Given the description of an element on the screen output the (x, y) to click on. 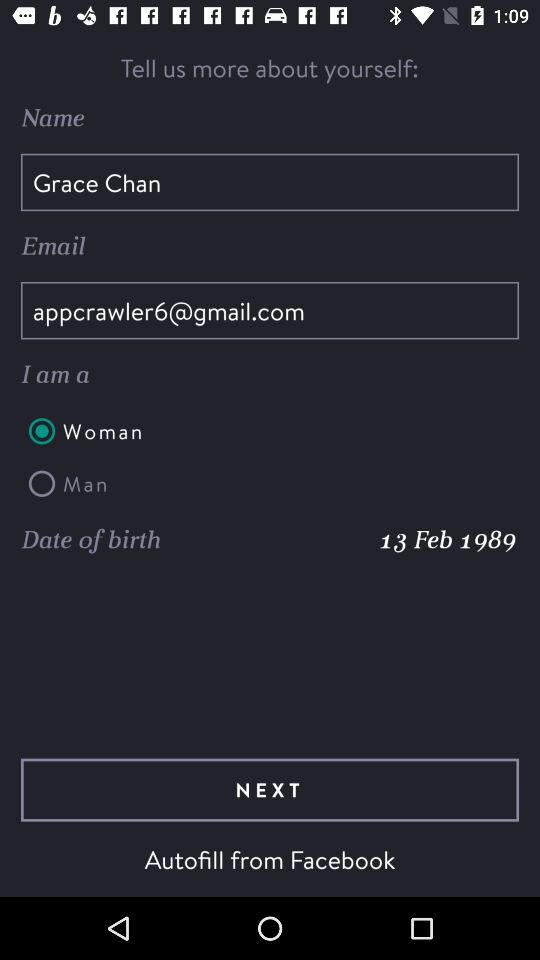
turn off appcrawler6@gmail.com item (269, 310)
